Given the description of an element on the screen output the (x, y) to click on. 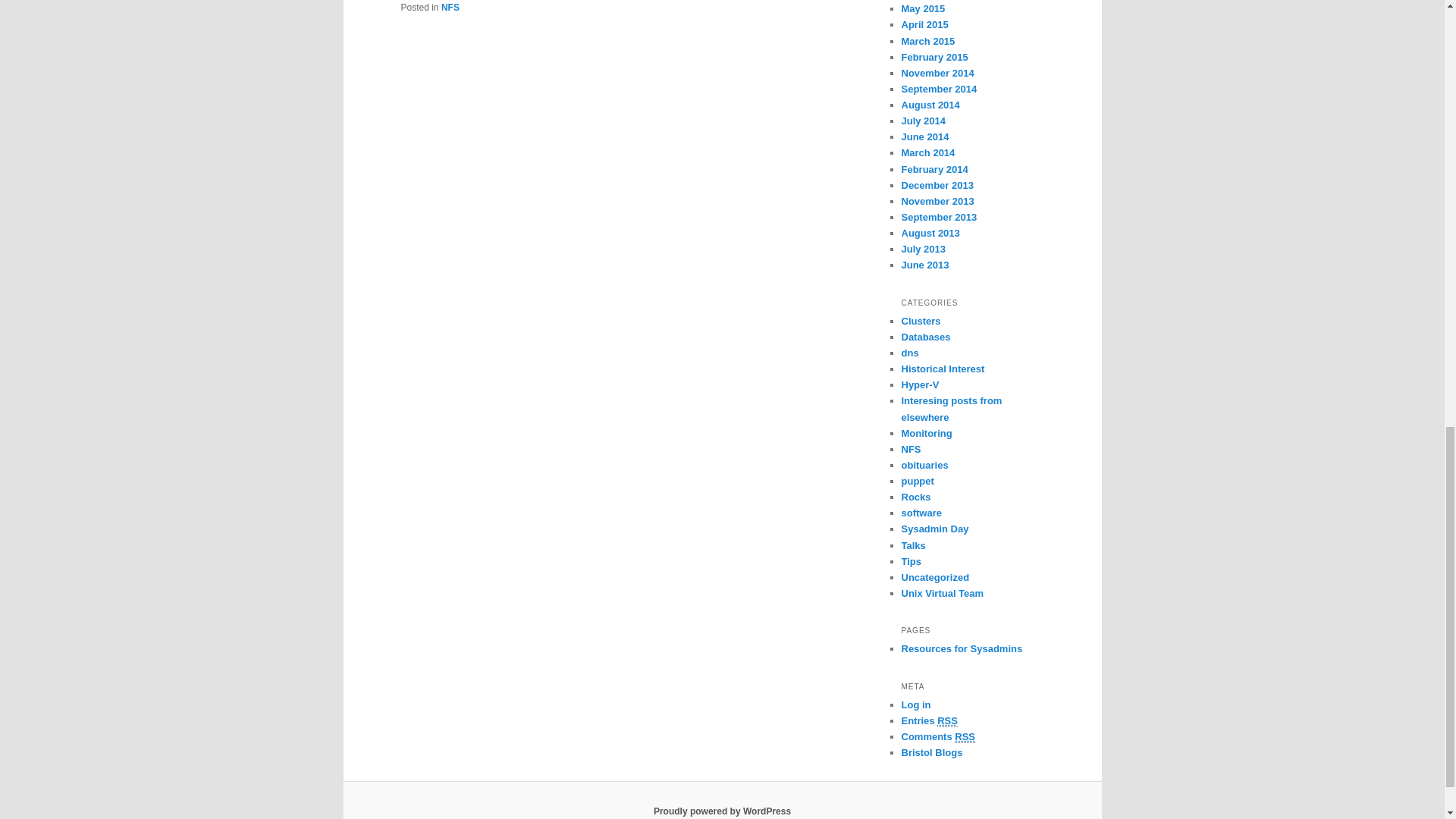
Powered by Bristol Blogs (931, 752)
NFS (450, 7)
The latest comments to all posts in RSS (938, 736)
March 2015 (928, 41)
May 2015 (922, 8)
Semantic Personal Publishing Platform (721, 810)
April 2015 (924, 24)
Really Simple Syndication (947, 720)
February 2015 (934, 57)
Syndicate this site using RSS 2.0 (928, 720)
Really Simple Syndication (965, 736)
